Given the description of an element on the screen output the (x, y) to click on. 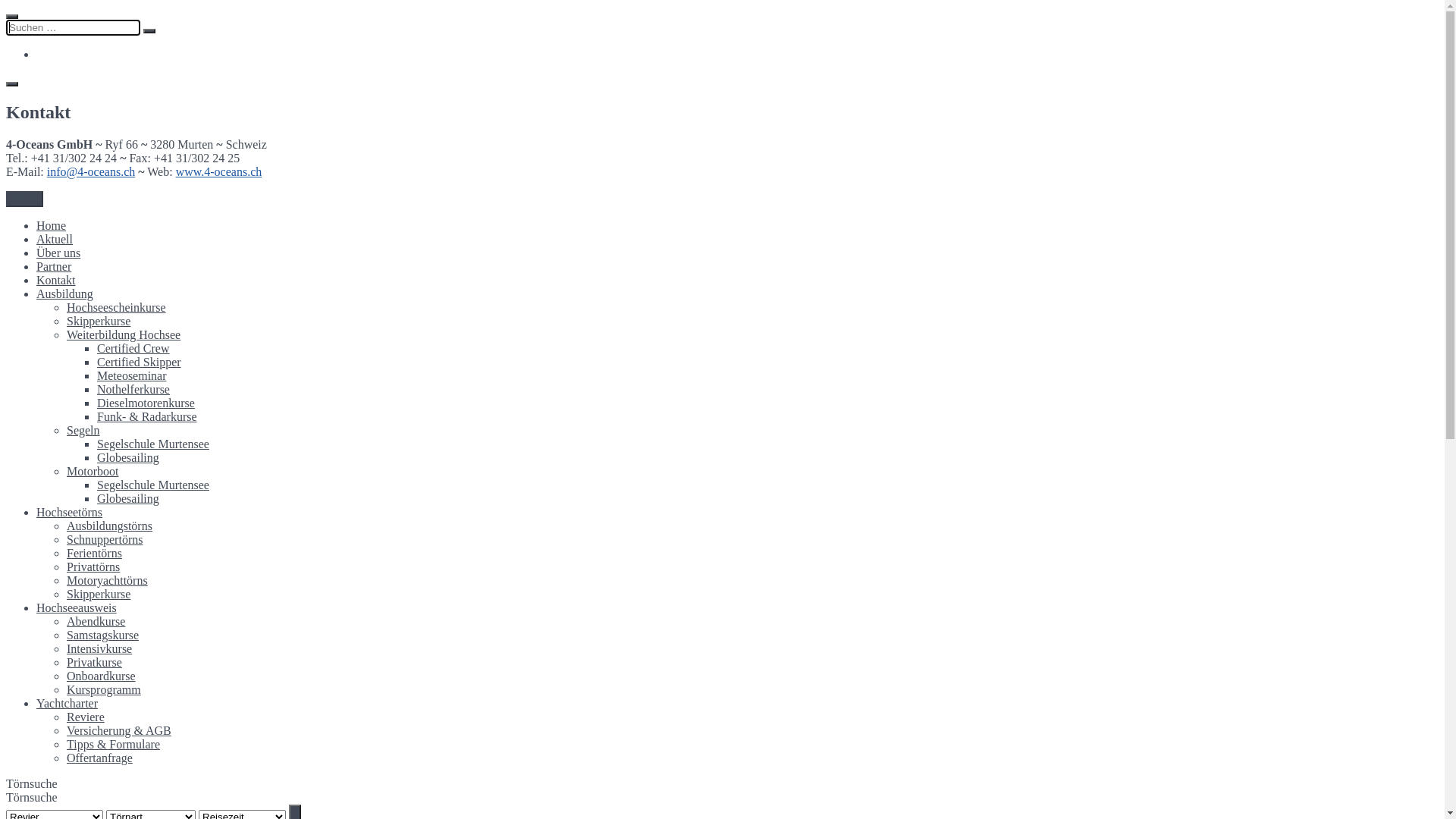
Hochseescheinkurse Element type: text (116, 307)
Samstagskurse Element type: text (102, 634)
Meteoseminar Element type: text (131, 375)
Aktuell Element type: text (54, 238)
Privatkurse Element type: text (94, 661)
Weiterbildung Hochsee Element type: text (123, 334)
Funk- & Radarkurse Element type: text (147, 416)
Dieselmotorenkurse Element type: text (145, 402)
Offertanfrage Element type: text (99, 757)
Segelschule Murtensee Element type: text (153, 443)
Intensivkurse Element type: text (98, 648)
Segeln Element type: text (83, 429)
Abendkurse Element type: text (95, 621)
Kursprogramm Element type: text (103, 689)
Ausbildung Element type: text (64, 293)
Suchen Element type: text (149, 30)
Onboardkurse Element type: text (100, 675)
Certified Skipper Element type: text (139, 361)
Versicherung & AGB Element type: text (118, 730)
Nothelferkurse Element type: text (133, 388)
www.4-oceans.ch Element type: text (218, 171)
Yachtcharter Element type: text (66, 702)
4-Oceans Element type: text (28, 24)
Globesailing Element type: text (128, 498)
info@4-oceans.ch Element type: text (90, 171)
Hochseeausweis Element type: text (76, 607)
Kontakt Element type: text (55, 279)
Segelschule Murtensee Element type: text (153, 484)
Home Element type: text (50, 225)
Motorboot Element type: text (92, 470)
Globesailing Element type: text (128, 457)
Tipps & Formulare Element type: text (113, 743)
Skipperkurse Element type: text (98, 593)
Reviere Element type: text (85, 716)
Suche nach: Element type: hover (73, 27)
Certified Crew Element type: text (133, 348)
Skipperkurse Element type: text (98, 320)
Partner Element type: text (53, 266)
